Given the description of an element on the screen output the (x, y) to click on. 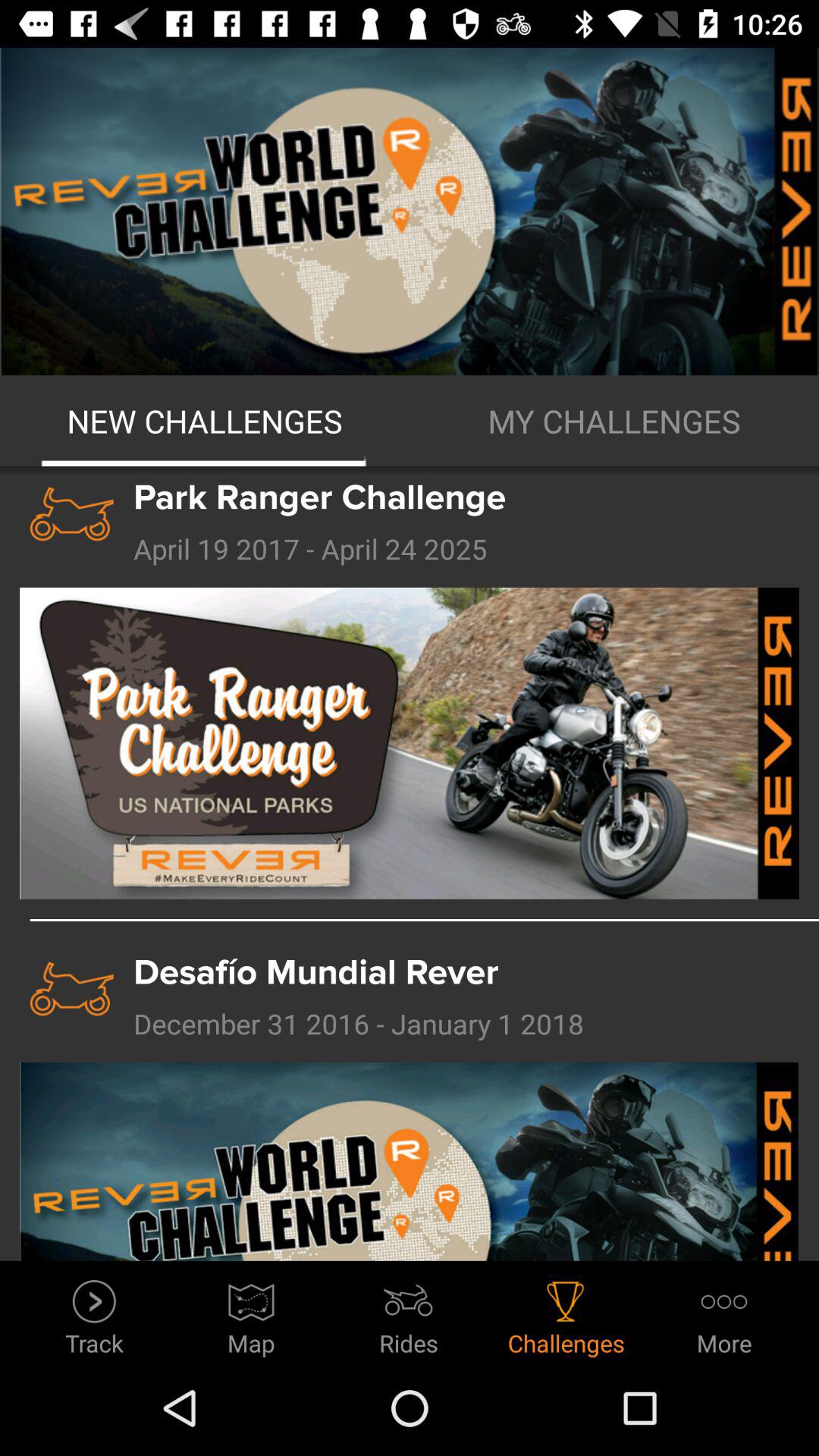
click the more item (724, 1313)
